Given the description of an element on the screen output the (x, y) to click on. 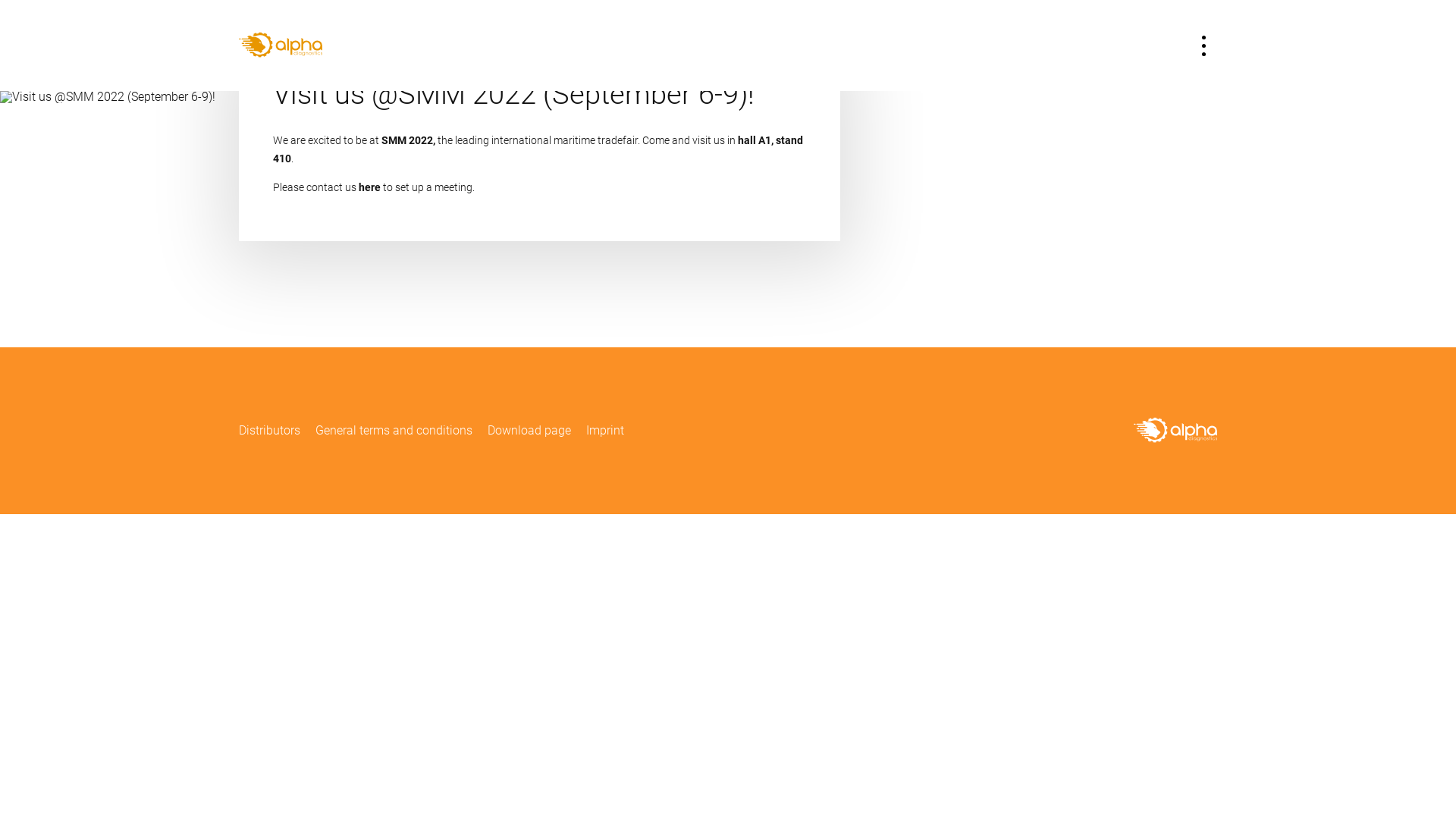
AlphaDiagnostics Element type: hover (280, 45)
here Element type: text (369, 187)
SMM 2022 Element type: text (407, 140)
AlphaDiagnostics Element type: hover (1175, 431)
General terms and conditions Element type: text (393, 430)
Distributors Element type: text (269, 430)
Imprint Element type: text (605, 430)
Download page Element type: text (529, 430)
